Given the description of an element on the screen output the (x, y) to click on. 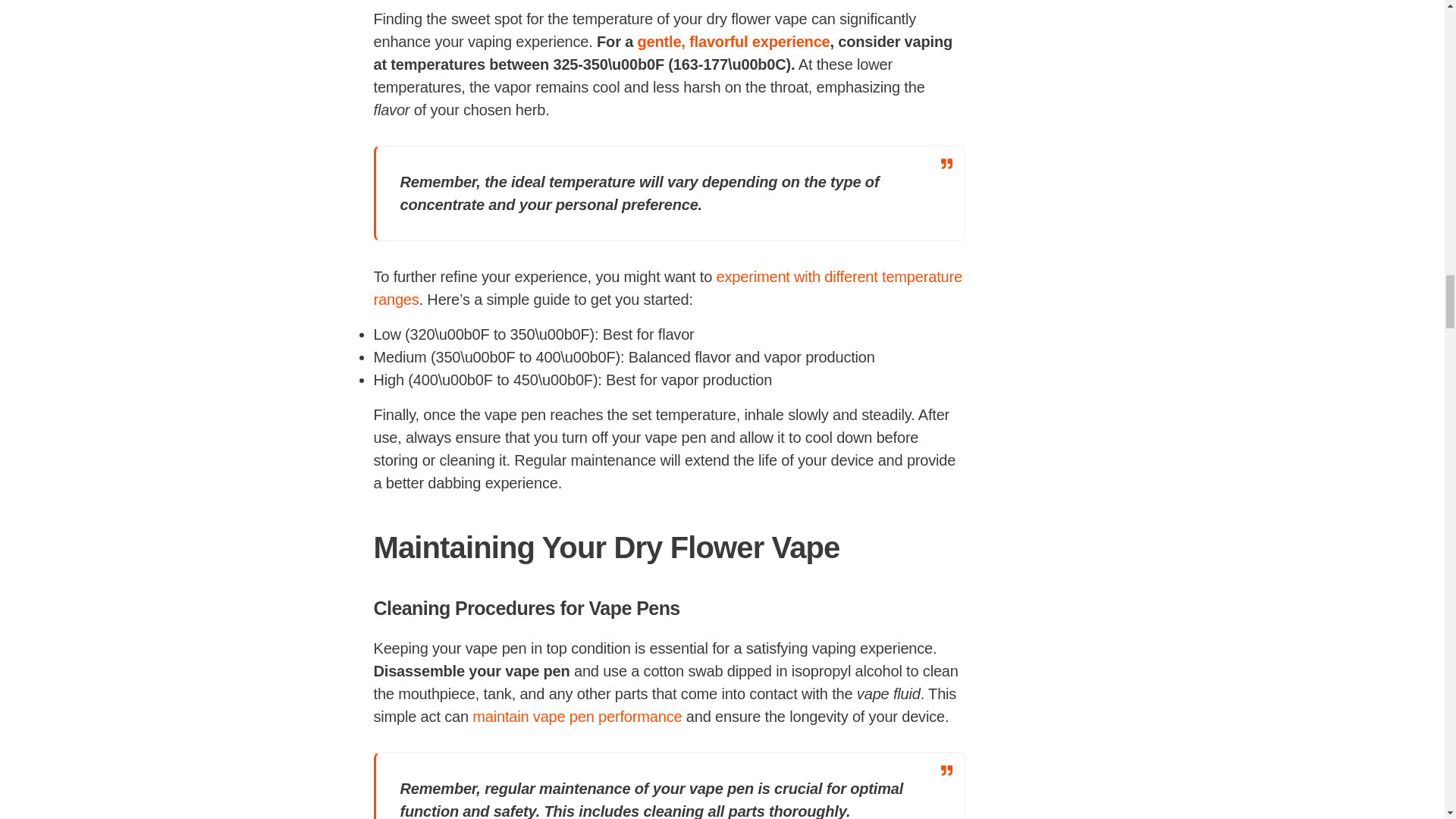
maintain vape pen performance (576, 716)
experiment with different temperature ranges (666, 287)
gentle, flavorful experience (733, 41)
